Given the description of an element on the screen output the (x, y) to click on. 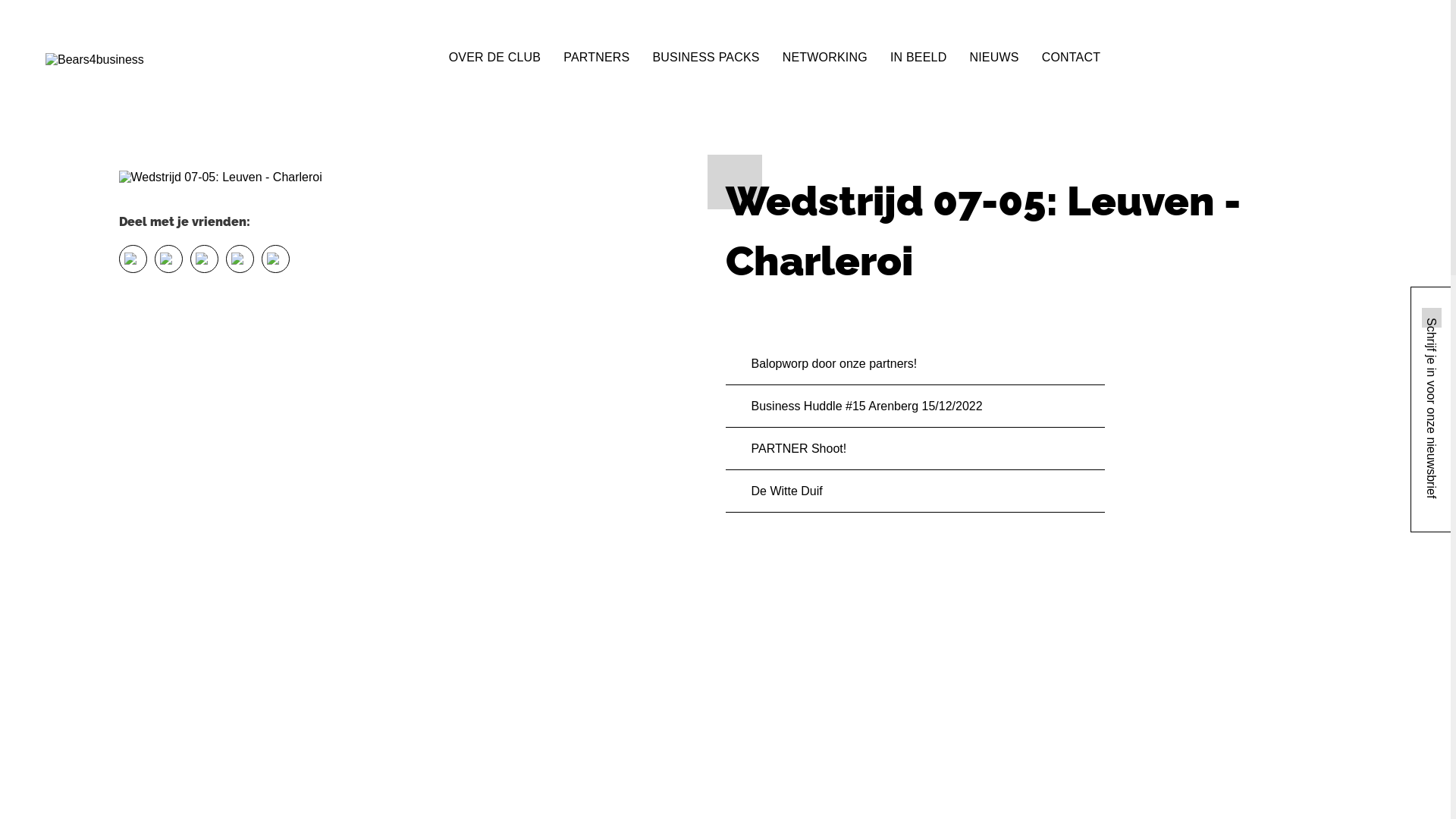
Share via linkedin Element type: hover (203, 258)
Share via mail Element type: hover (239, 258)
Share via whatsapp Element type: hover (274, 258)
Schrijf je in voor onze nieuwsbrief Element type: text (1430, 409)
Business Huddle #15 Arenberg 15/12/2022 Element type: text (914, 406)
IN BEELD Element type: text (918, 56)
OVER DE CLUB Element type: text (494, 56)
Share via facebook Element type: hover (132, 258)
CONTACT Element type: text (1071, 56)
Share via X Element type: hover (168, 258)
BUSINESS PACKS Element type: text (705, 56)
PARTNER Shoot! Element type: text (914, 449)
PARTNERS Element type: text (596, 56)
Balopworp door onze partners! Element type: text (914, 364)
Bears4business Element type: hover (94, 59)
De Witte Duif Element type: text (914, 491)
NIEUWS Element type: text (993, 56)
NETWORKING Element type: text (824, 56)
